Given the description of an element on the screen output the (x, y) to click on. 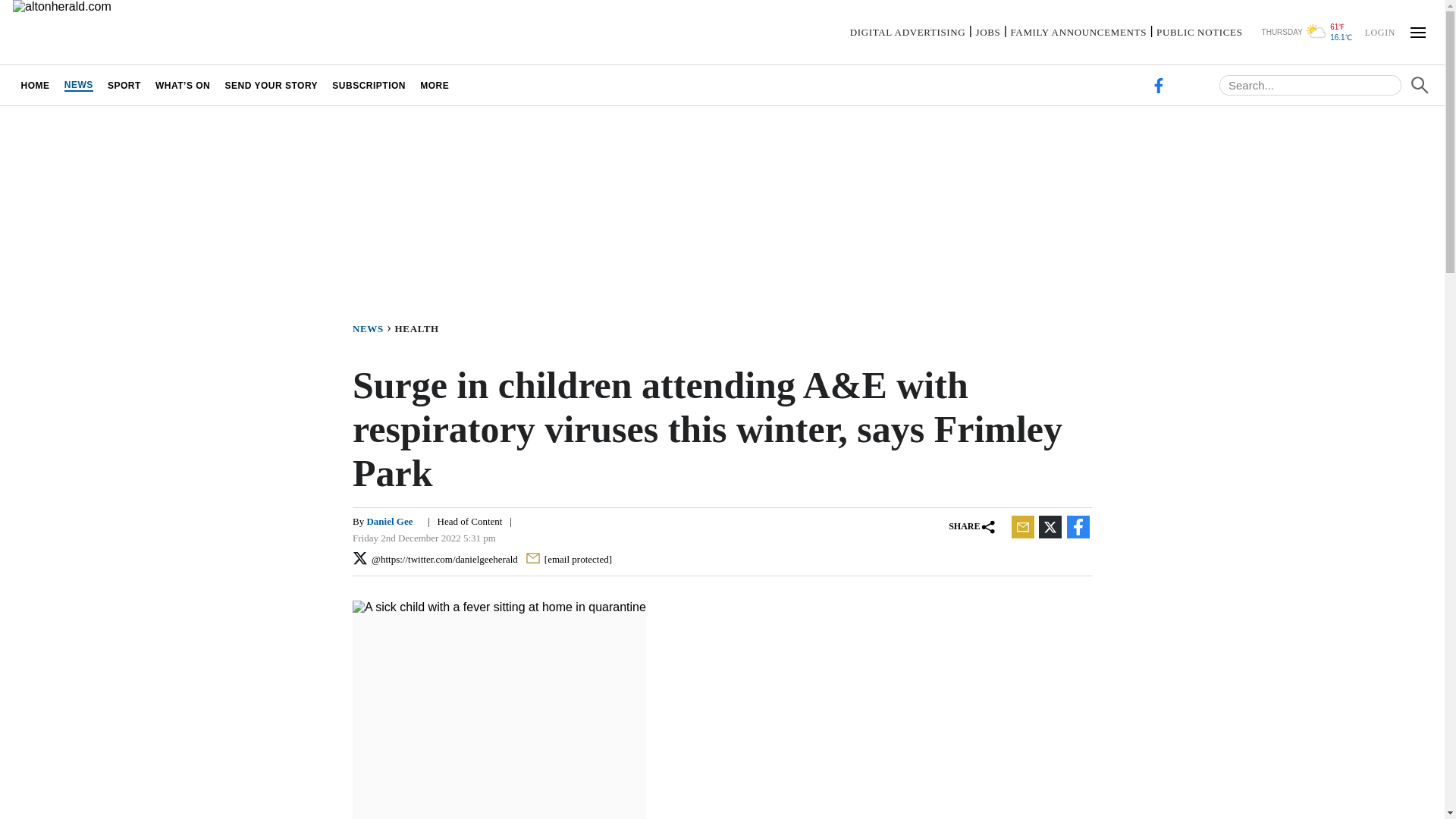
NEWS (78, 85)
MORE (435, 85)
HOME (34, 85)
Daniel Gee (389, 521)
SPORT (124, 85)
SEND YOUR STORY (270, 85)
LOGIN (1379, 31)
PUBLIC NOTICES (1198, 32)
HEALTH (419, 328)
SUBSCRIPTION (368, 85)
